Given the description of an element on the screen output the (x, y) to click on. 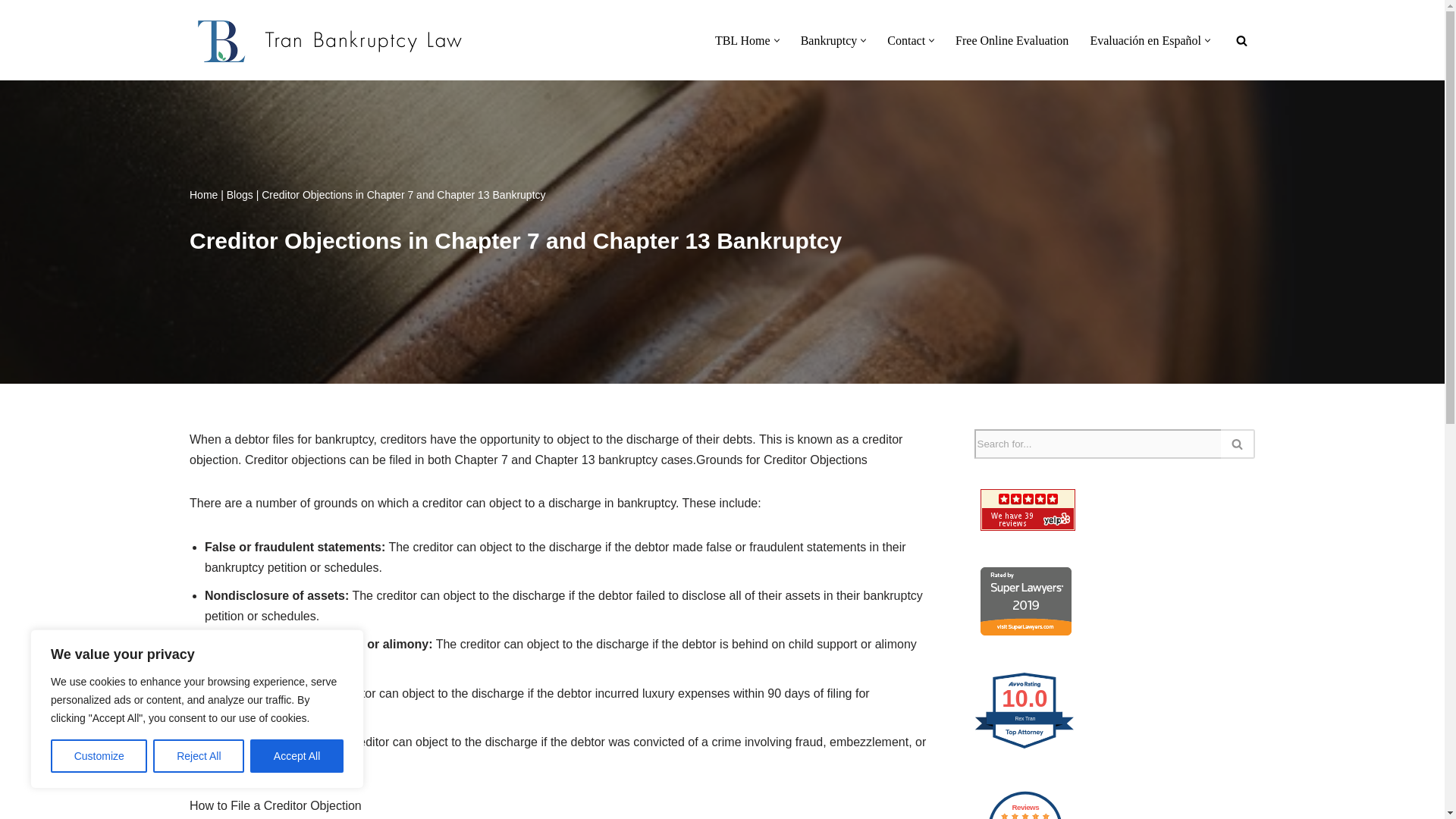
Accept All (296, 756)
Bankruptcy (828, 40)
Customize (98, 756)
TBL Home (742, 40)
Skip to content (11, 31)
Reject All (198, 756)
Contact (905, 40)
